Given the description of an element on the screen output the (x, y) to click on. 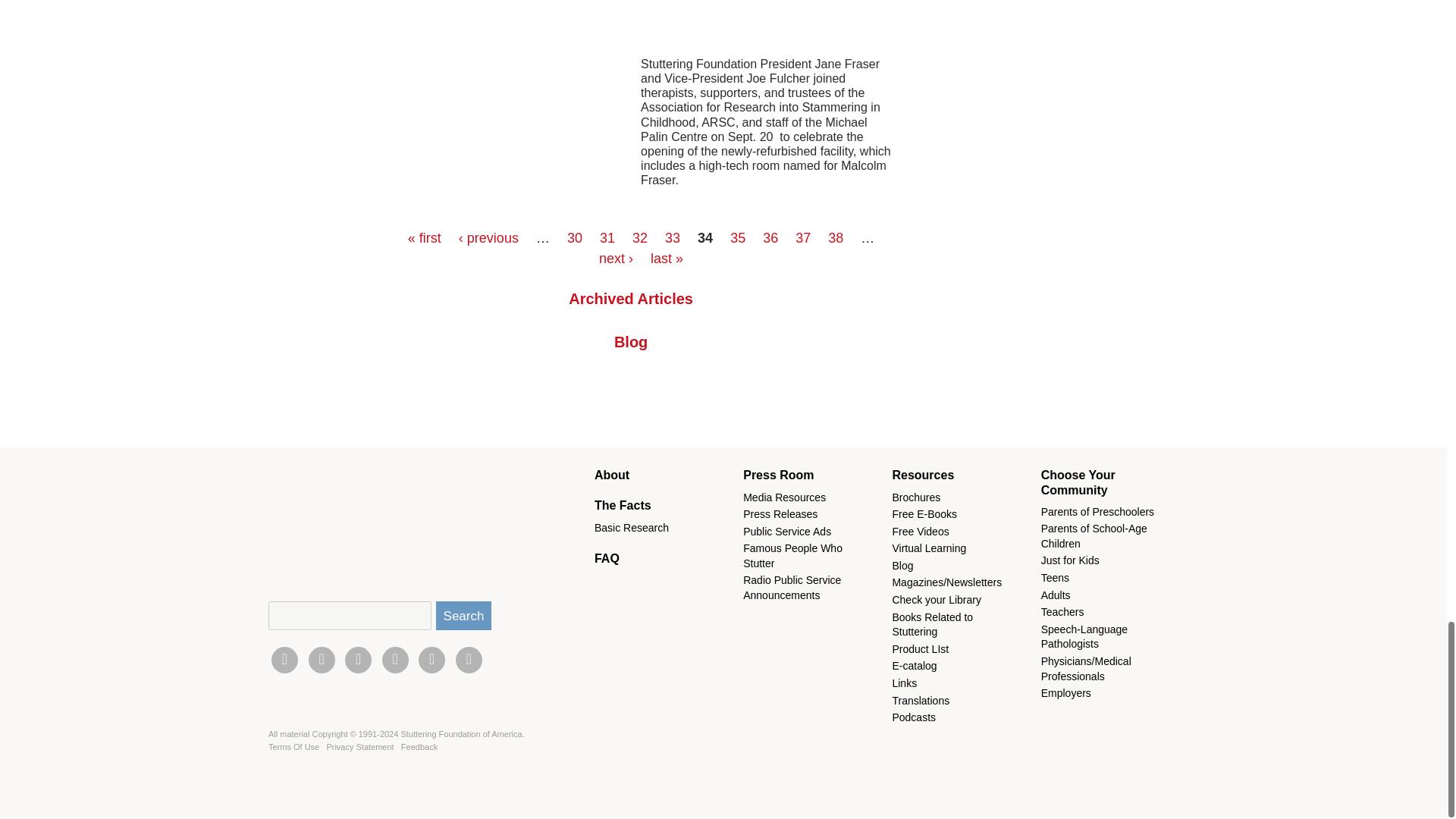
Go to previous page (488, 237)
Go to first page (424, 237)
Search (463, 615)
